Given the description of an element on the screen output the (x, y) to click on. 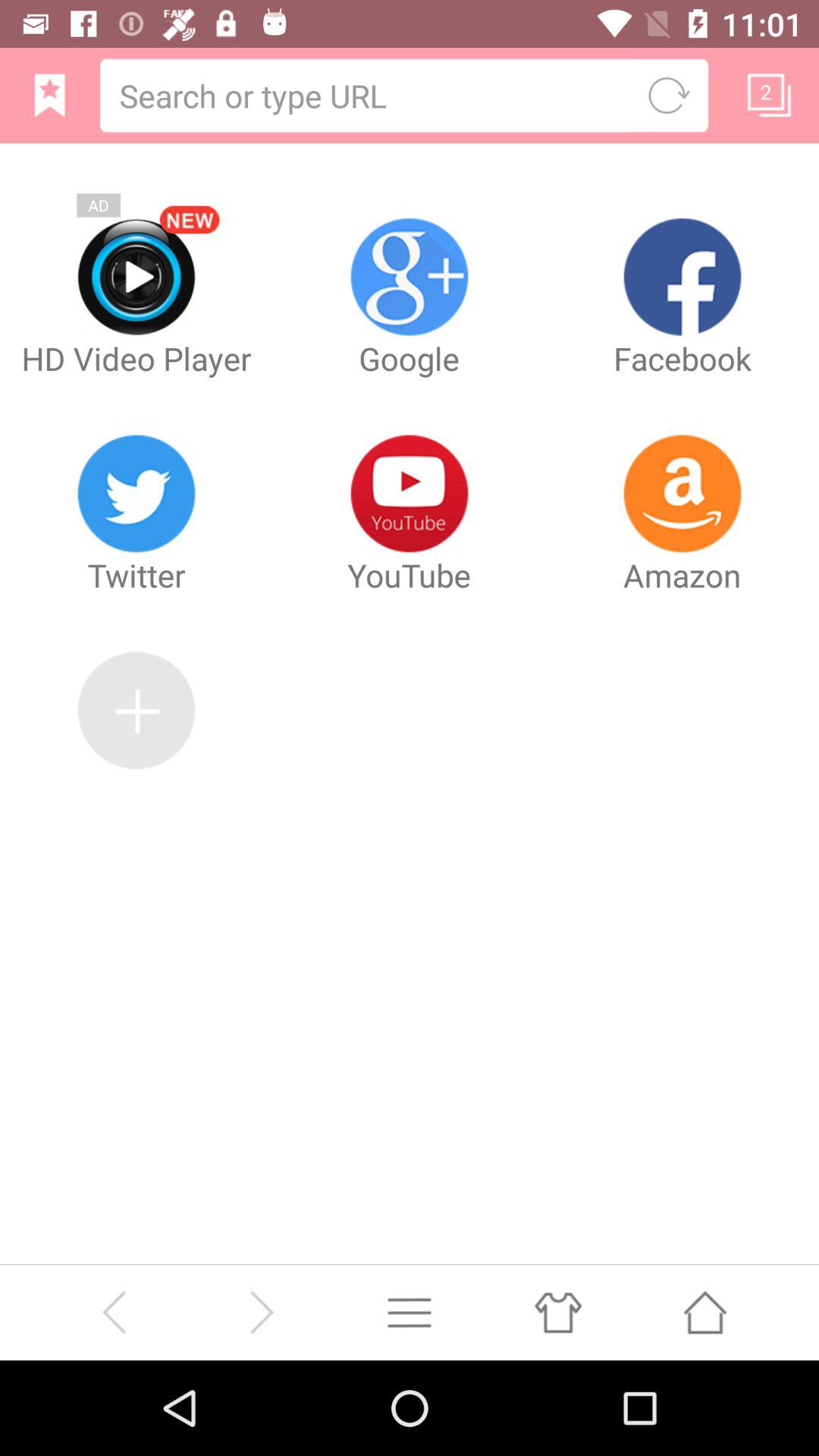
next page (261, 1312)
